Given the description of an element on the screen output the (x, y) to click on. 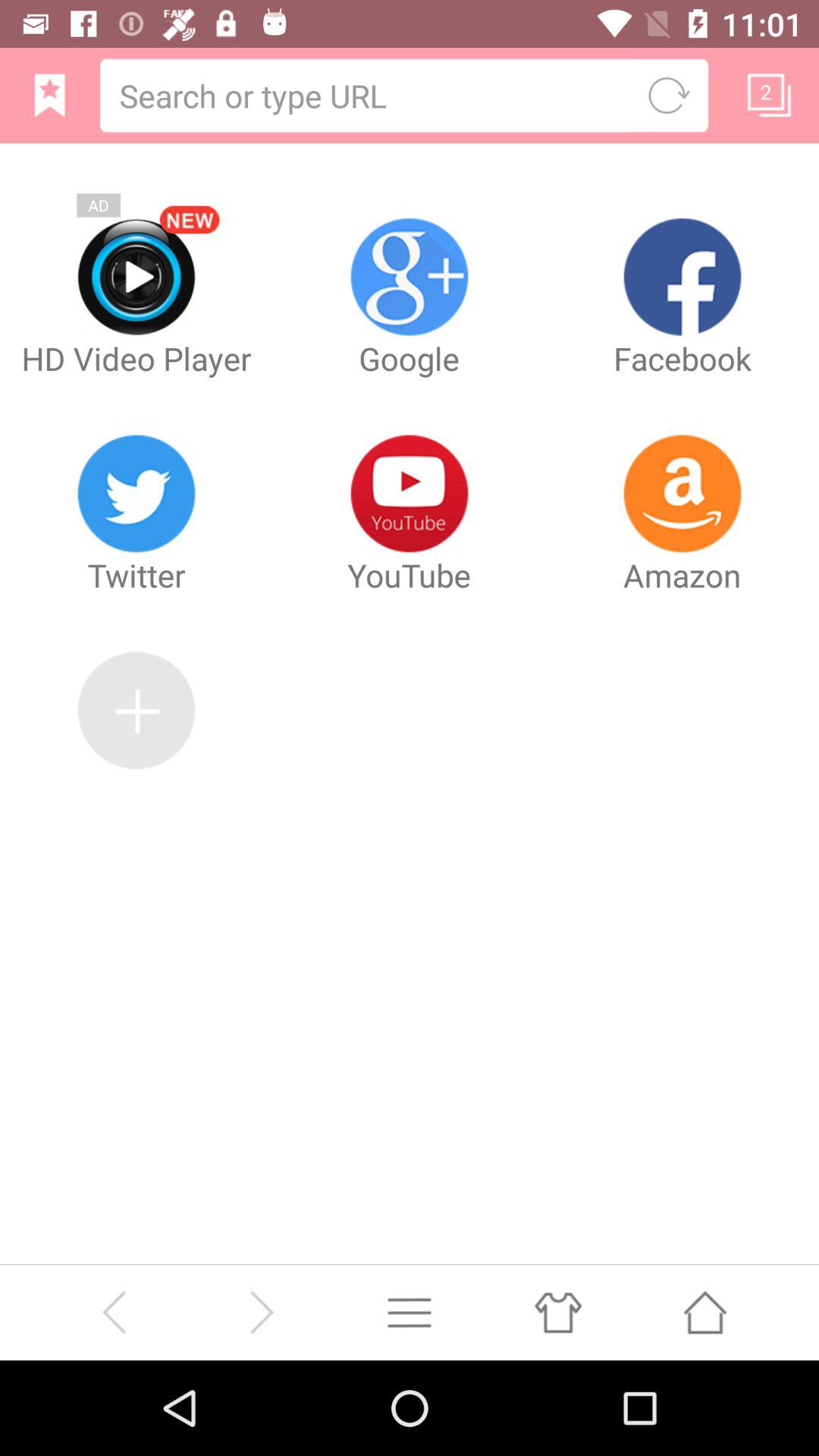
next page (261, 1312)
